Given the description of an element on the screen output the (x, y) to click on. 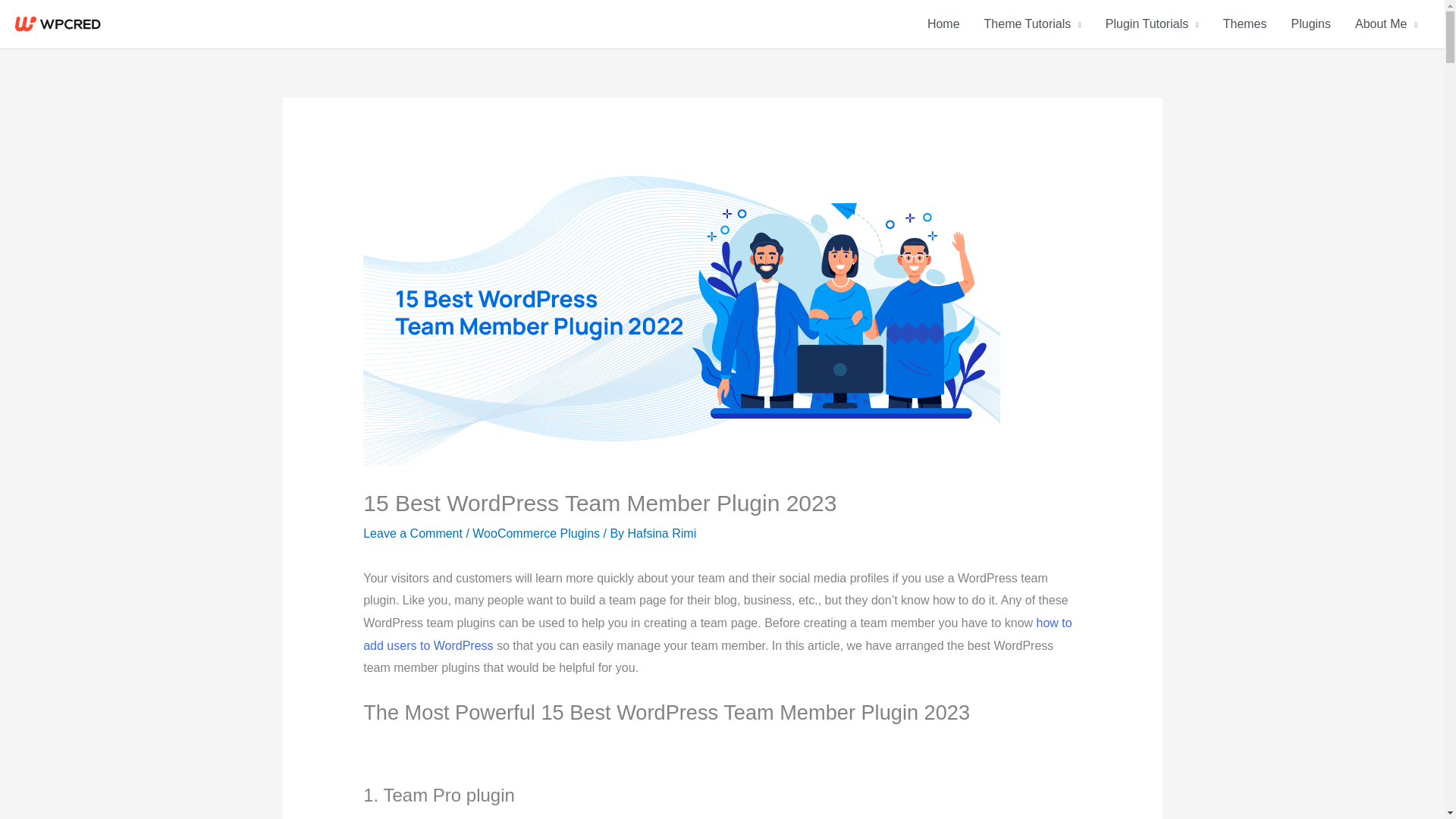
View all posts by Hafsina Rimi (662, 533)
Theme Tutorials (1032, 24)
Leave a Comment (412, 533)
Plugins (1310, 24)
Home (943, 24)
About Me (1385, 24)
Plugin Tutorials (1152, 24)
WooCommerce Plugins (535, 533)
Themes (1245, 24)
Hafsina Rimi (662, 533)
